Given the description of an element on the screen output the (x, y) to click on. 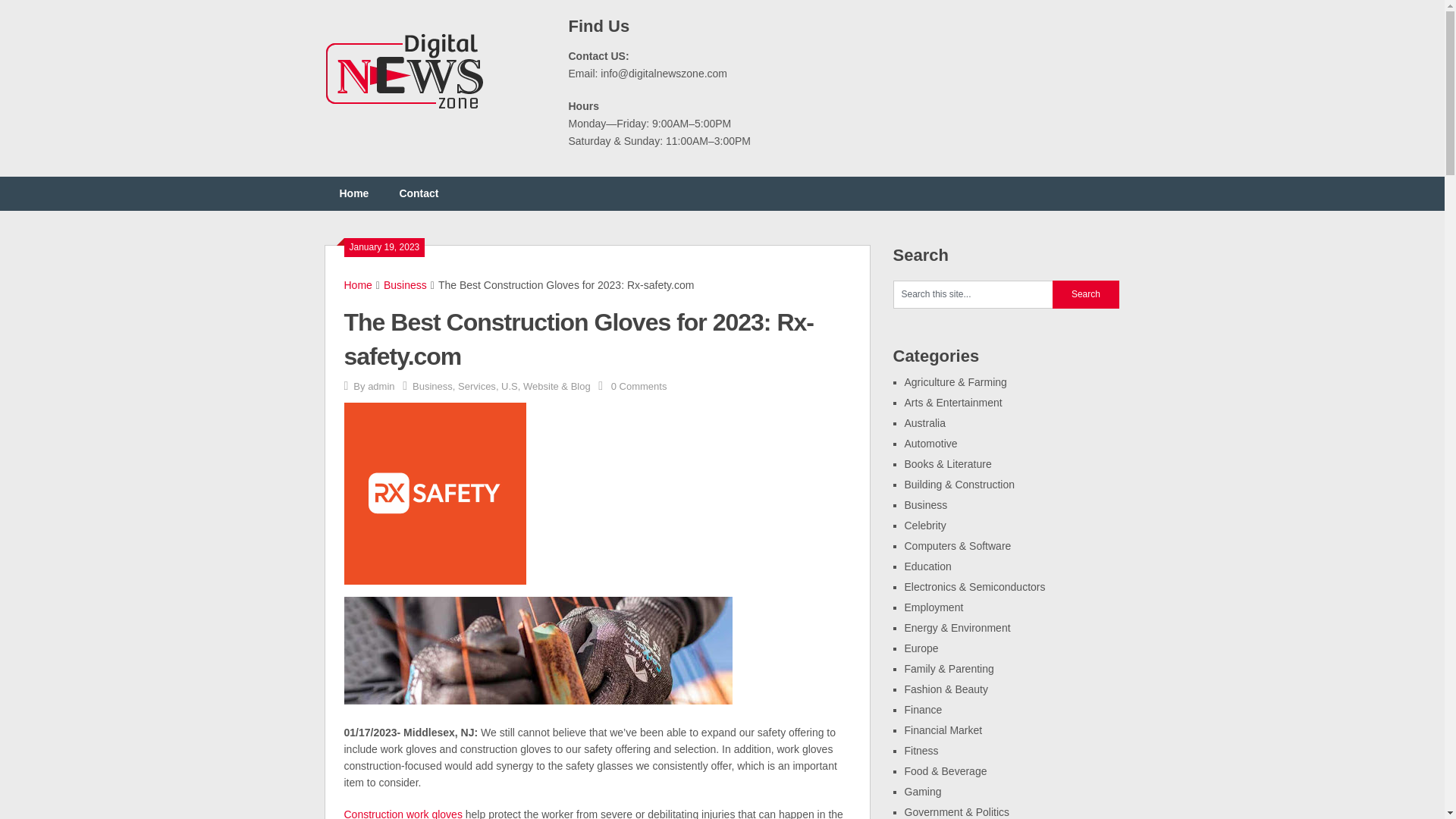
Services (477, 386)
0 Comments (638, 386)
admin (381, 386)
Home (357, 285)
Business (405, 285)
U.S (509, 386)
Business (925, 504)
Automotive (930, 443)
Business (432, 386)
Australia (924, 422)
Employment (933, 607)
Education (927, 566)
Construction work gloves (403, 813)
Celebrity (924, 525)
Search (1085, 294)
